Given the description of an element on the screen output the (x, y) to click on. 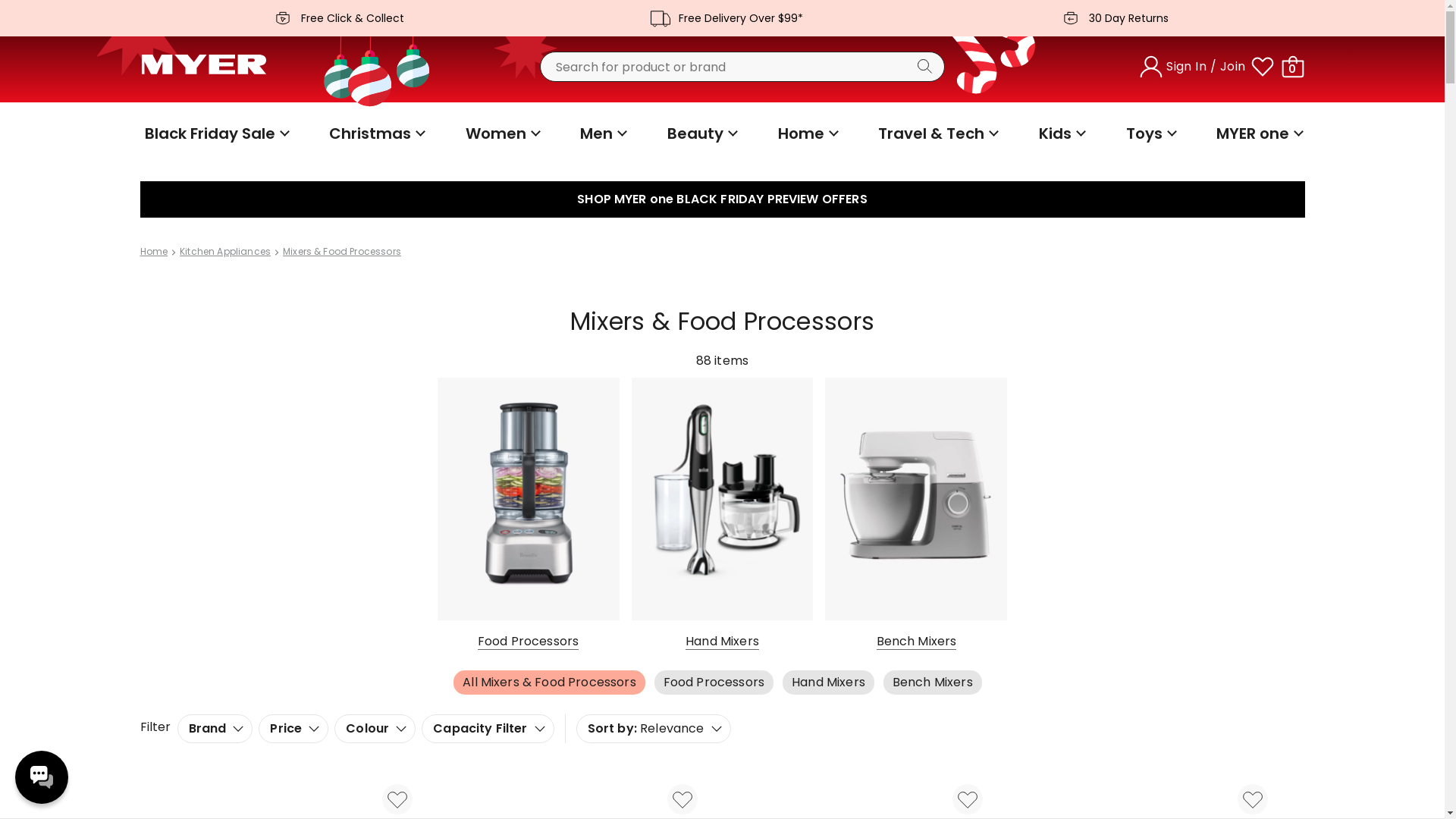
Hand Mixers Element type: text (721, 513)
Toys Element type: text (1149, 133)
Beauty Element type: text (700, 133)
Free Click & Collect Element type: text (333, 17)
Black Friday Sale Element type: text (214, 133)
Food Processors Element type: text (528, 513)
Kitchen Appliances Element type: text (224, 250)
All Mixers & Food Processors Element type: text (548, 682)
Kids Element type: text (1060, 133)
Mixers & Food Processors Element type: text (341, 250)
Capacity Filter Element type: text (487, 728)
Sort by: Relevance Element type: text (653, 728)
Need help? Element type: text (41, 776)
MYER one Element type: text (1257, 133)
Brand Element type: text (215, 728)
Bench Mixers Element type: text (916, 513)
Women Element type: text (501, 133)
SHOP MYER one BLACK FRIDAY PREVIEW OFFERS Element type: text (721, 199)
Travel & Tech Element type: text (936, 133)
Sign In / Join Element type: text (1193, 66)
Bench Mixers Element type: text (932, 682)
30 Day Returns Element type: text (1110, 17)
Home Element type: text (153, 250)
Men Element type: text (601, 133)
Food Processors Element type: text (713, 682)
Home Element type: text (806, 133)
Colour Element type: text (374, 728)
Hand Mixers Element type: text (828, 682)
Free Delivery Over $99* Element type: text (721, 17)
0 Element type: text (1292, 66)
Price Element type: text (293, 728)
Christmas Element type: text (375, 133)
